Given the description of an element on the screen output the (x, y) to click on. 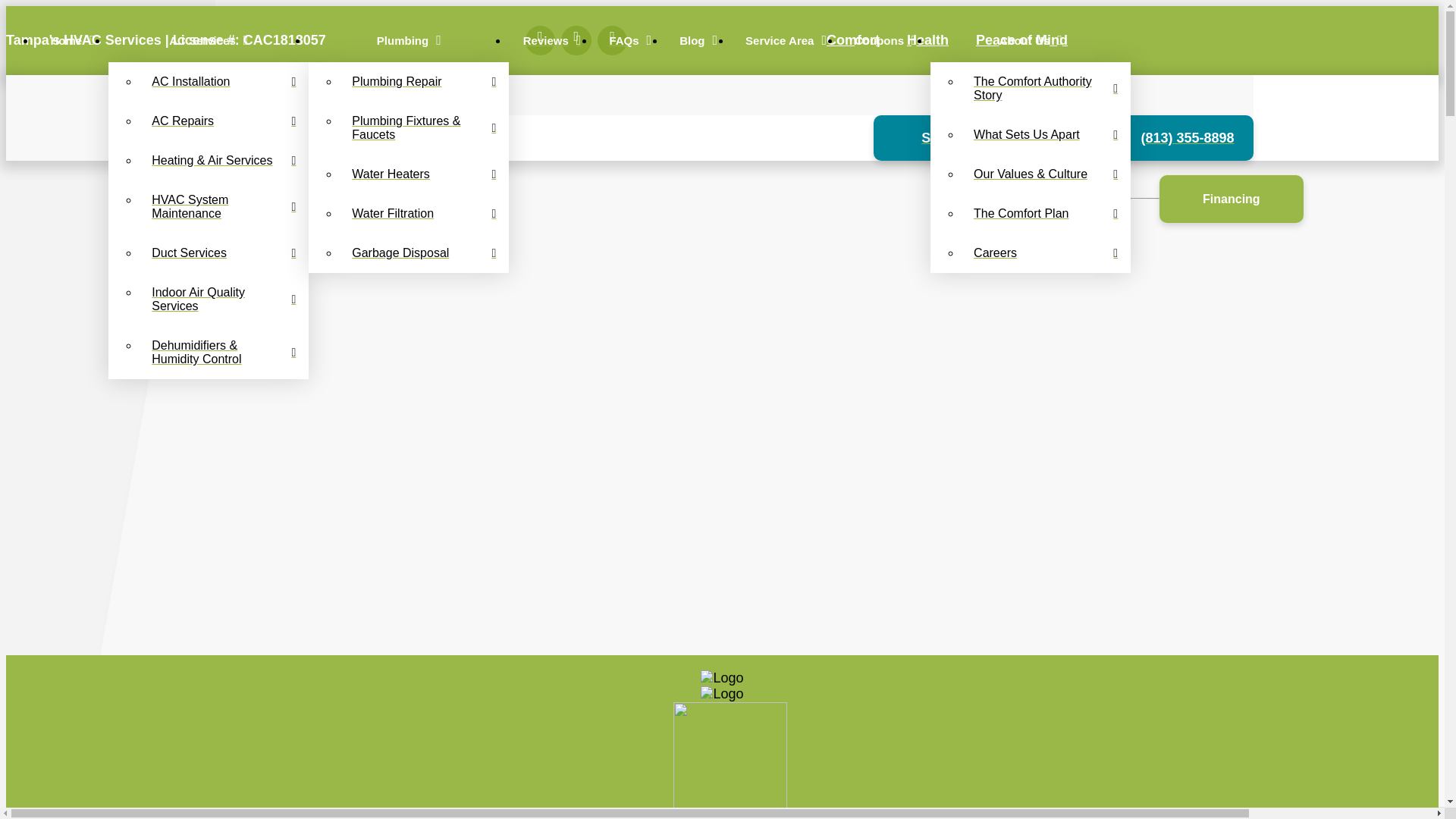
Plumbing (408, 40)
The Comfort Plan (1045, 213)
Health (928, 39)
Peace of Mind (1021, 39)
Schedule Service (962, 137)
Duct Services (223, 252)
Service Area (786, 40)
Water Filtration (423, 213)
Water Heaters (423, 174)
Coupons (885, 40)
